Given the description of an element on the screen output the (x, y) to click on. 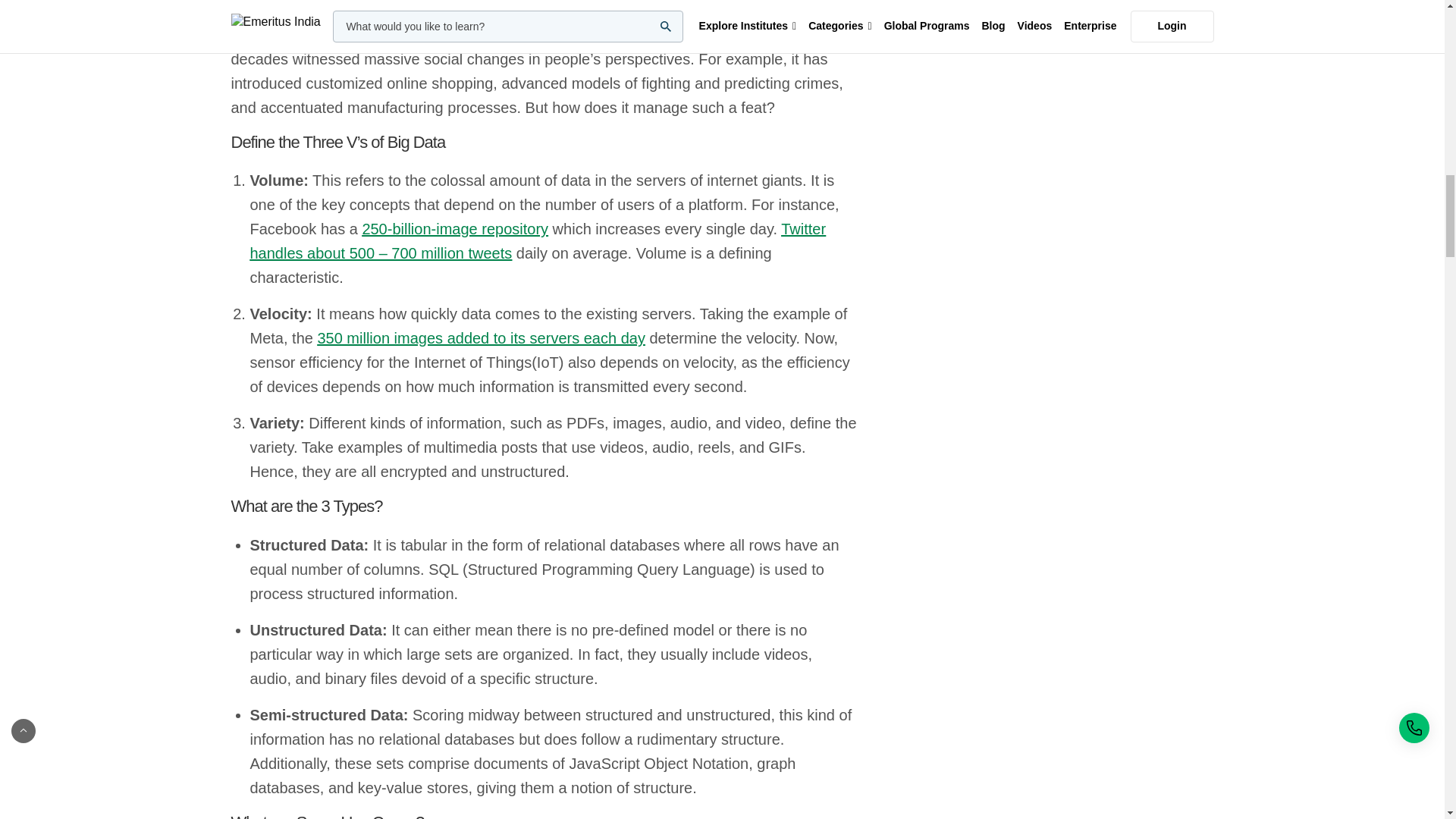
What are the 3 Types? (543, 506)
